Given the description of an element on the screen output the (x, y) to click on. 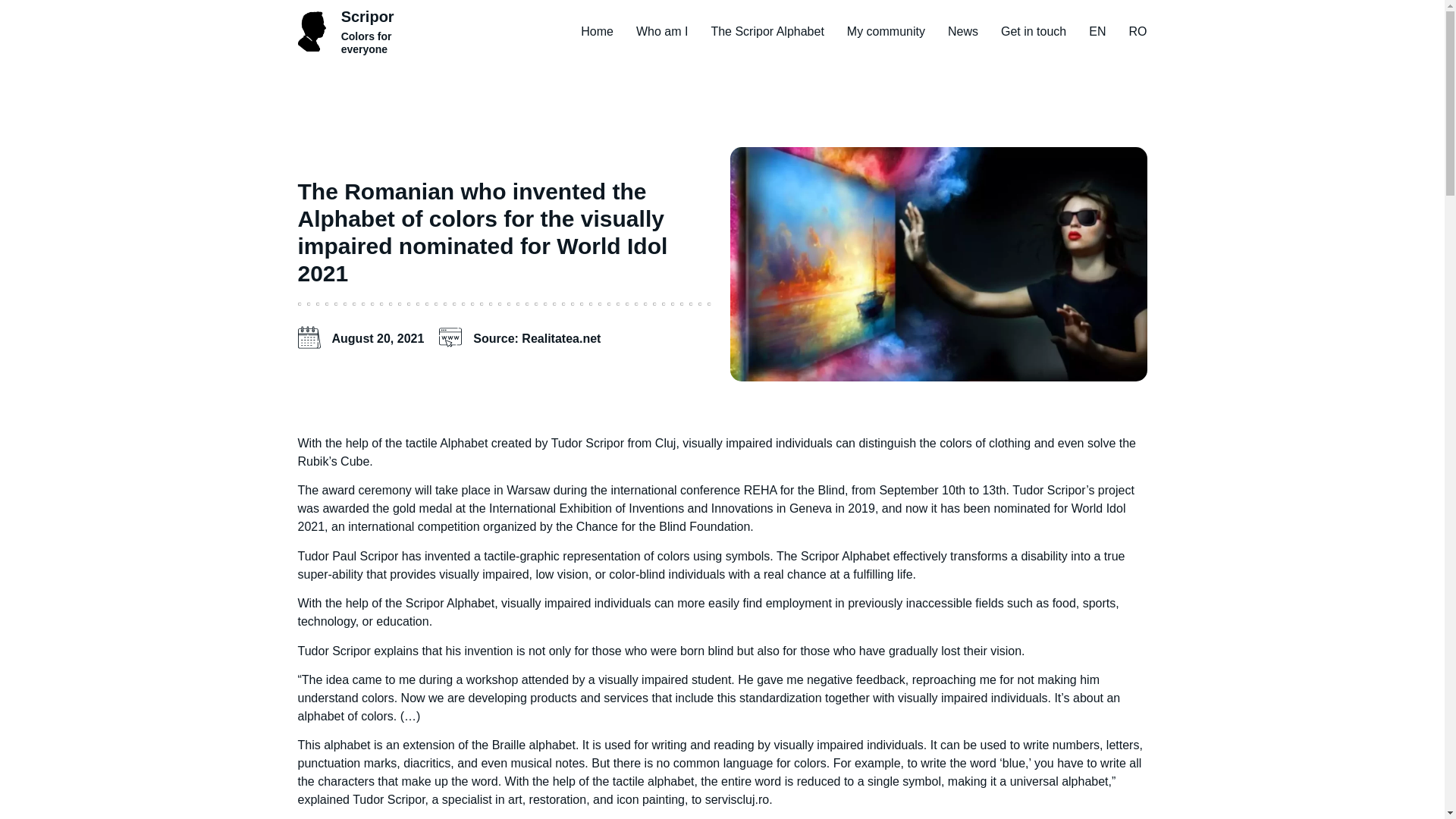
Home (596, 31)
Colors for everyone (365, 42)
Scripor (367, 16)
My community (885, 31)
Who am I (661, 31)
RO (1137, 31)
EN (1097, 31)
News (962, 31)
The Scripor Alphabet (767, 31)
RO (1137, 31)
